Given the description of an element on the screen output the (x, y) to click on. 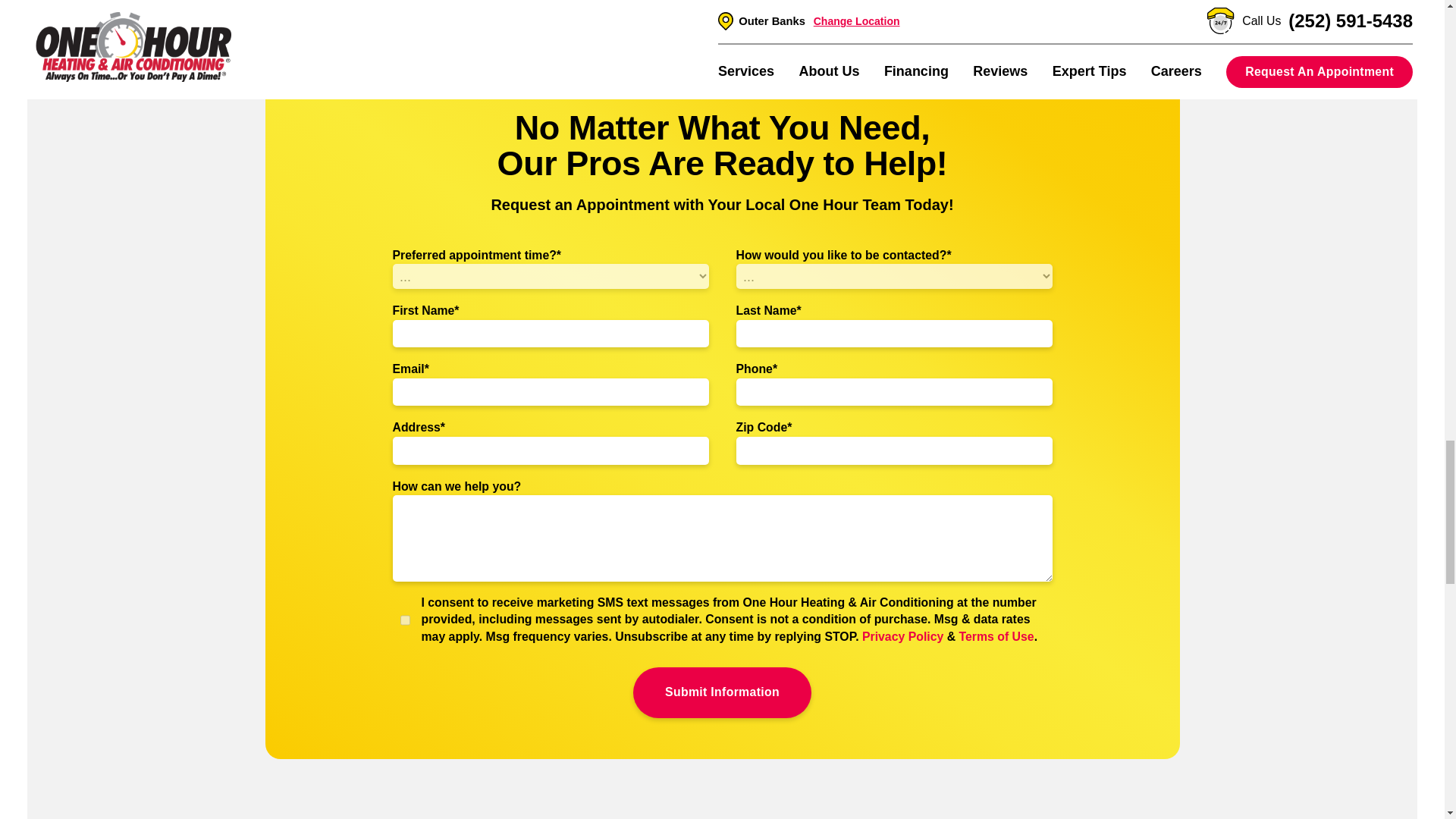
Submit Information (721, 692)
